Given the description of an element on the screen output the (x, y) to click on. 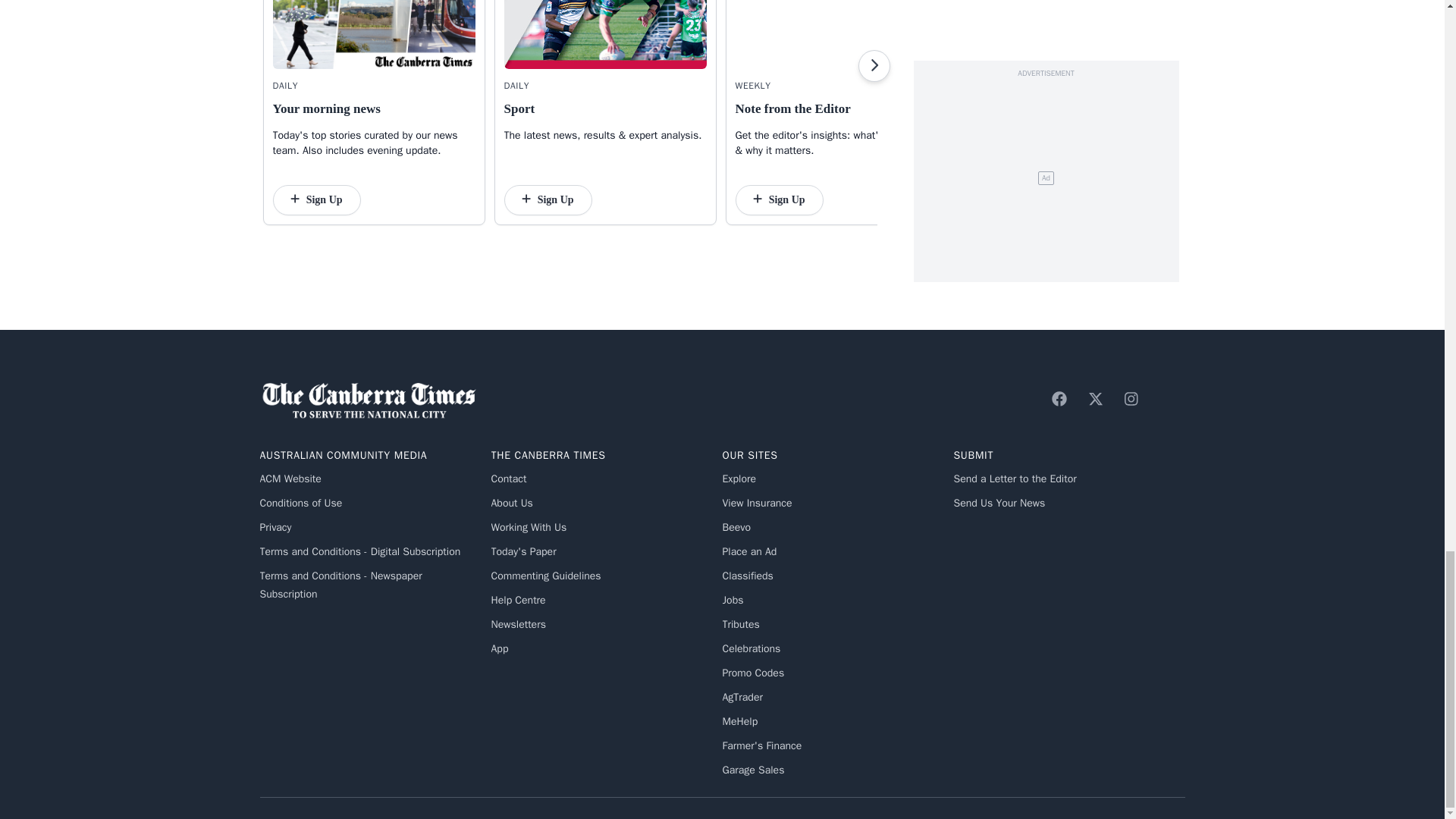
Your morning news Newsletter (374, 34)
Sport Newsletter (604, 34)
Note from the Editor Newsletter (836, 34)
